Given the description of an element on the screen output the (x, y) to click on. 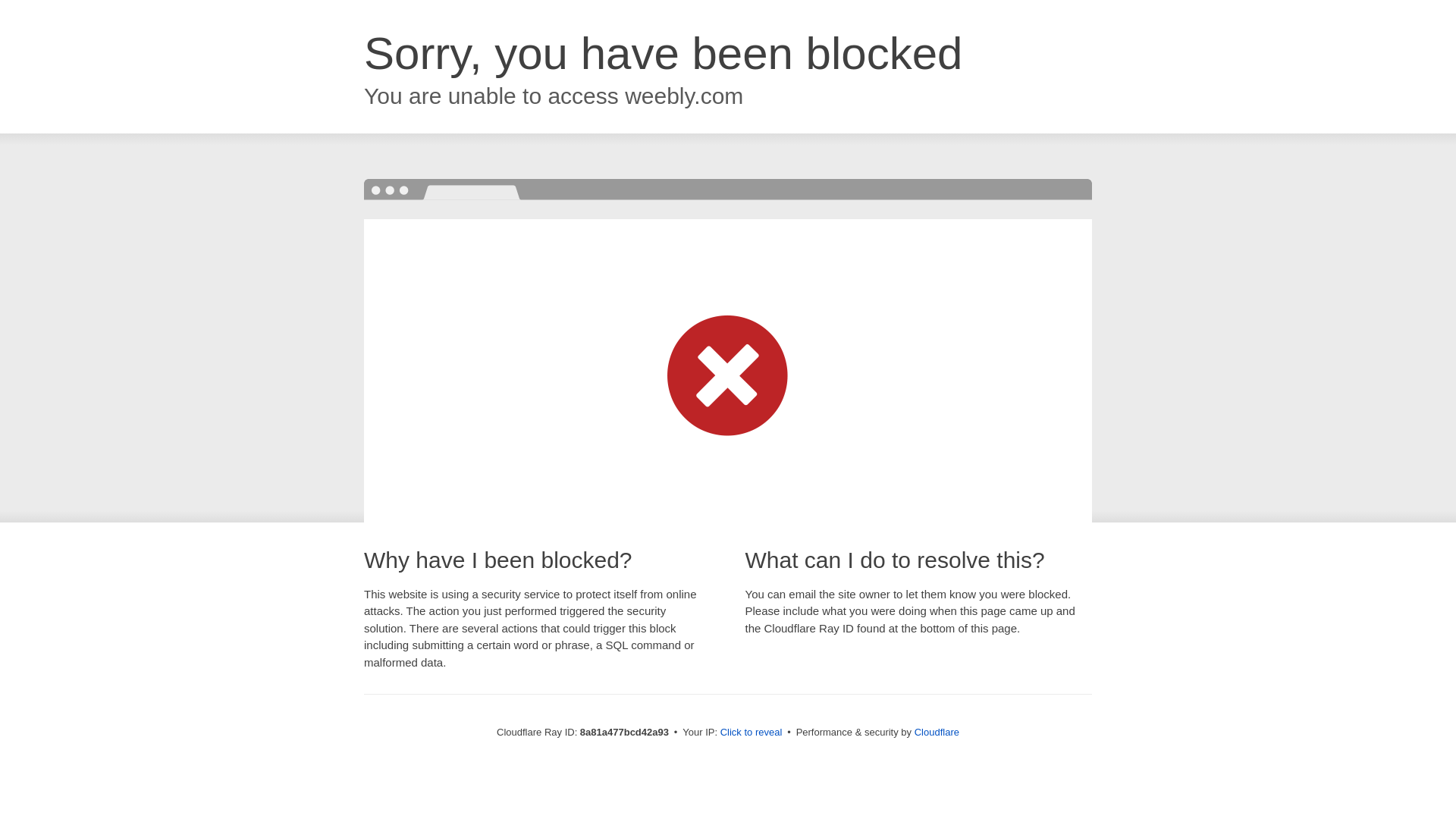
Cloudflare (936, 731)
Click to reveal (751, 732)
